Given the description of an element on the screen output the (x, y) to click on. 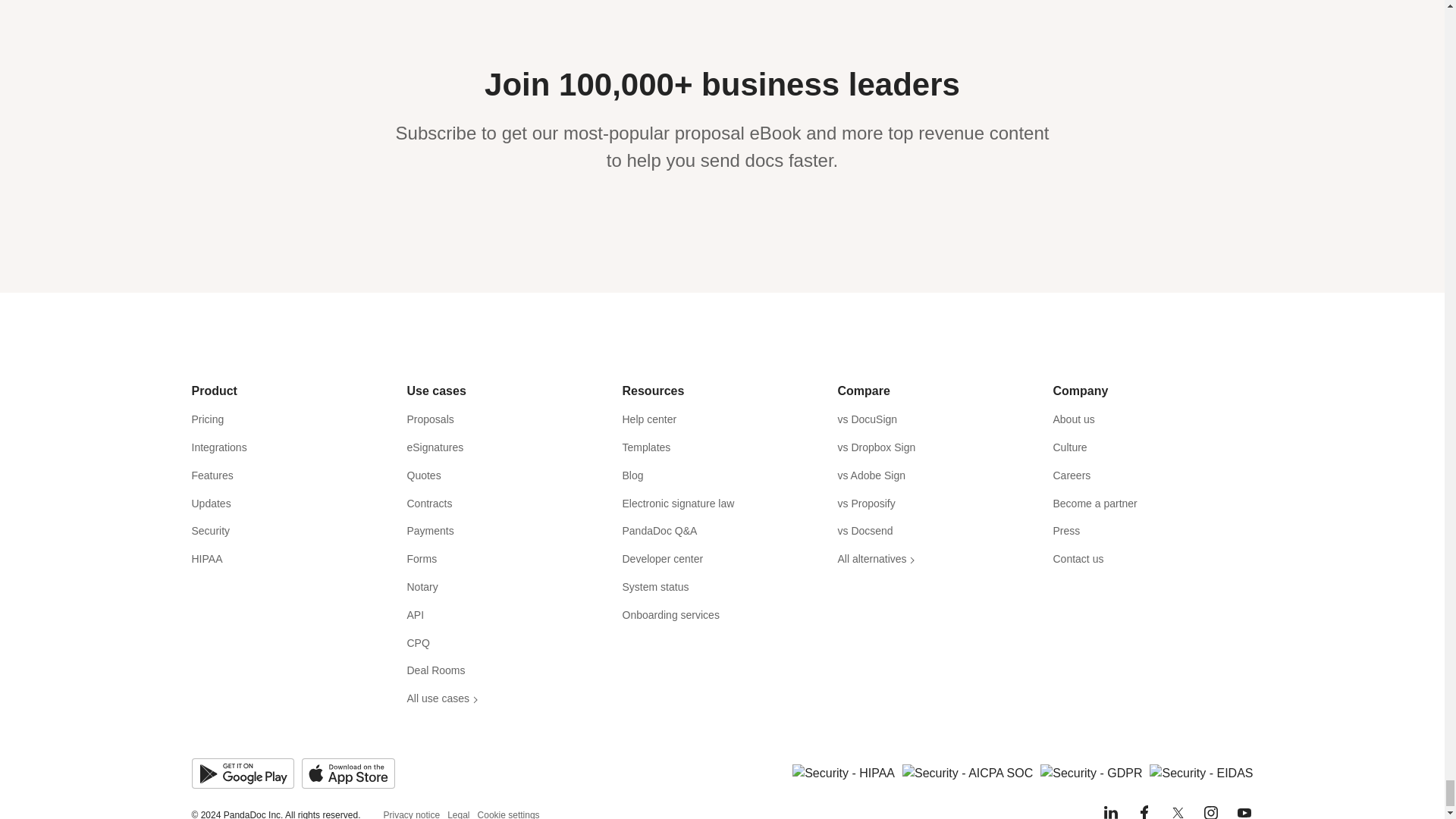
Facebook (1143, 811)
Twitter (1176, 811)
Instagram (1210, 811)
Youtube (1243, 811)
LinkedIn (1109, 811)
